Given the description of an element on the screen output the (x, y) to click on. 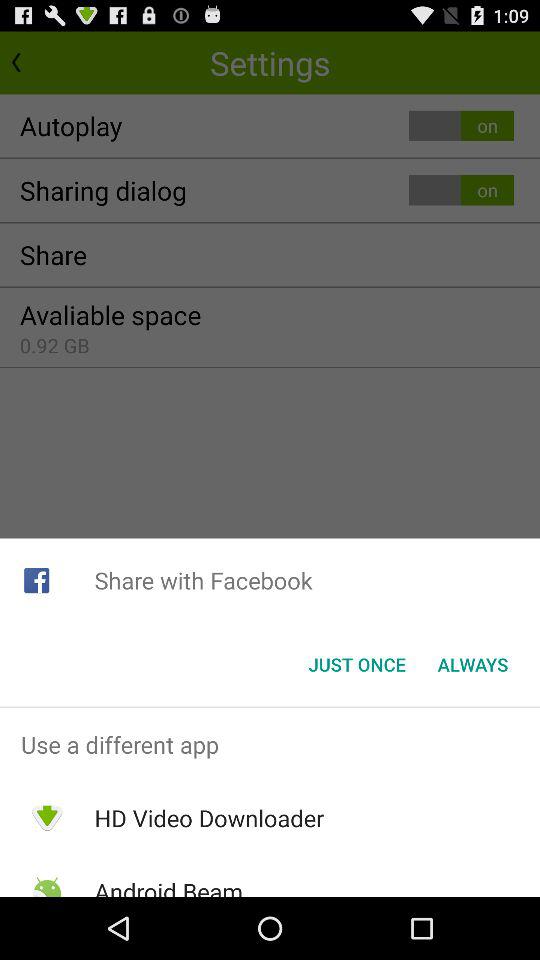
launch app below the share with facebook app (472, 664)
